Given the description of an element on the screen output the (x, y) to click on. 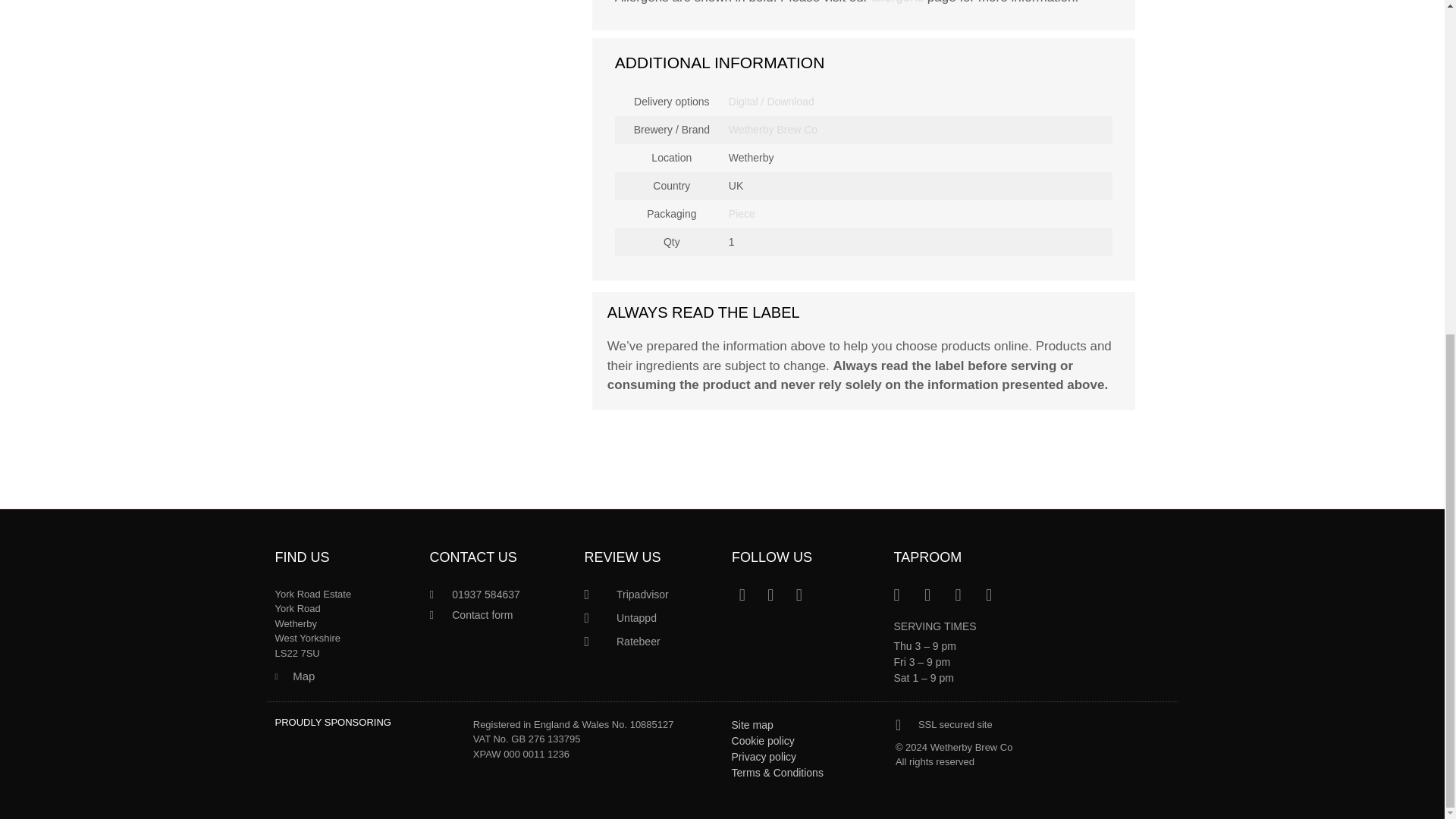
Cookie policy (806, 741)
Map (344, 676)
Wetherby Brew Co (772, 129)
Tripadvisor (649, 594)
Site map (806, 725)
Privacy policy (806, 756)
Contact form (499, 615)
Untappd (649, 618)
Ratebeer (649, 641)
Piece (742, 213)
